Given the description of an element on the screen output the (x, y) to click on. 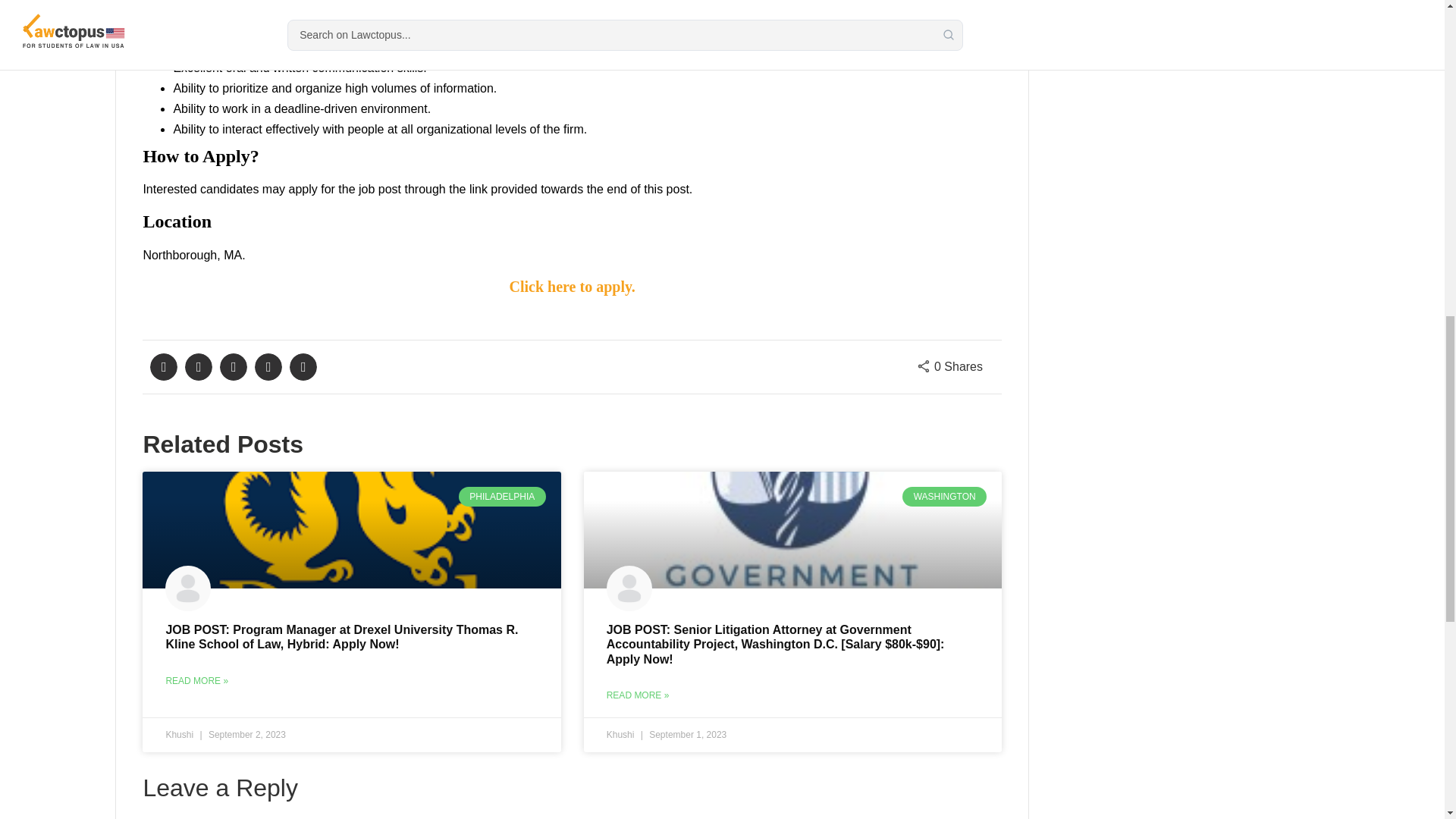
Click here to apply. (571, 286)
